Given the description of an element on the screen output the (x, y) to click on. 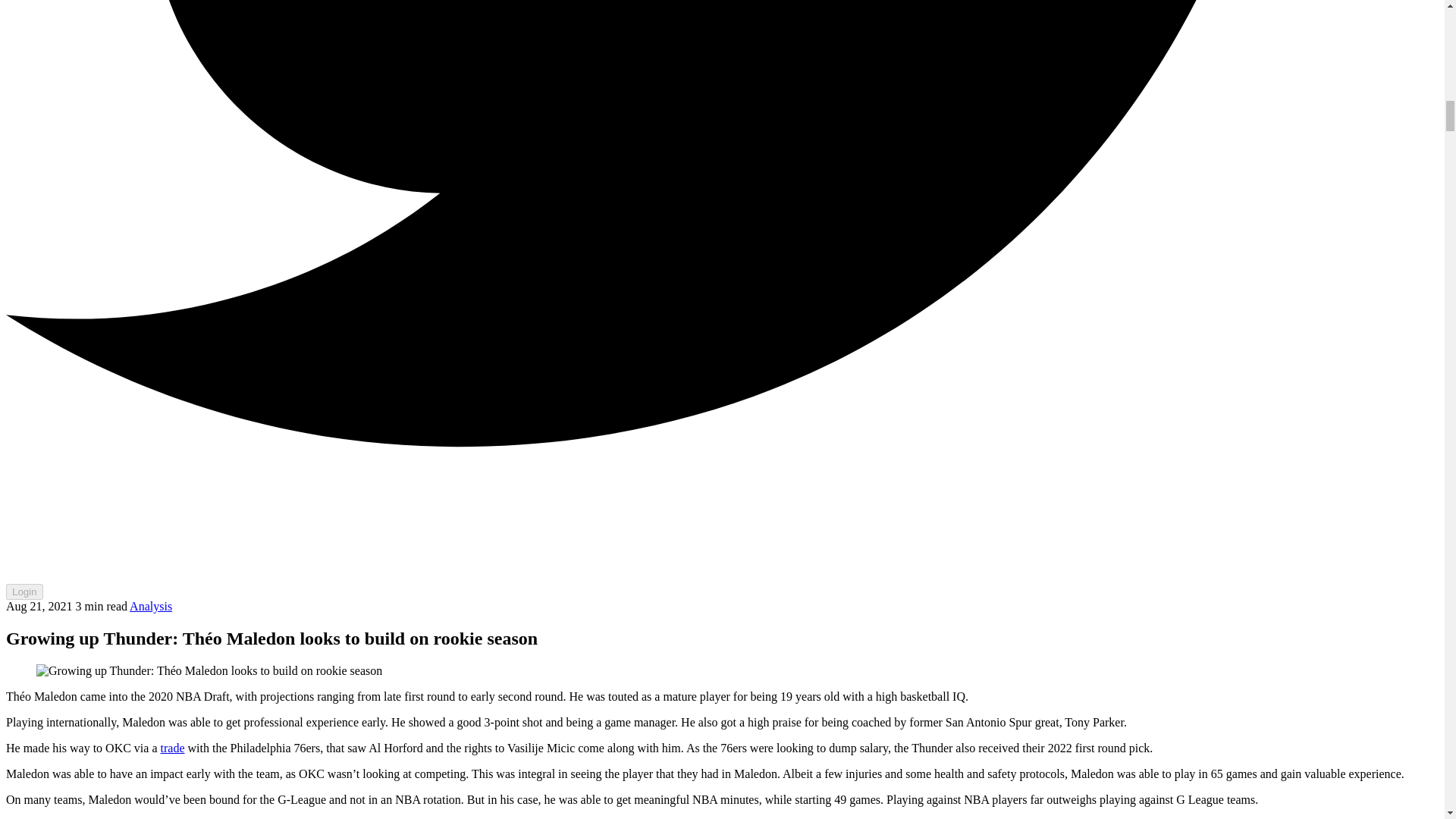
Analysis (150, 605)
trade (172, 748)
Login (24, 591)
